Given the description of an element on the screen output the (x, y) to click on. 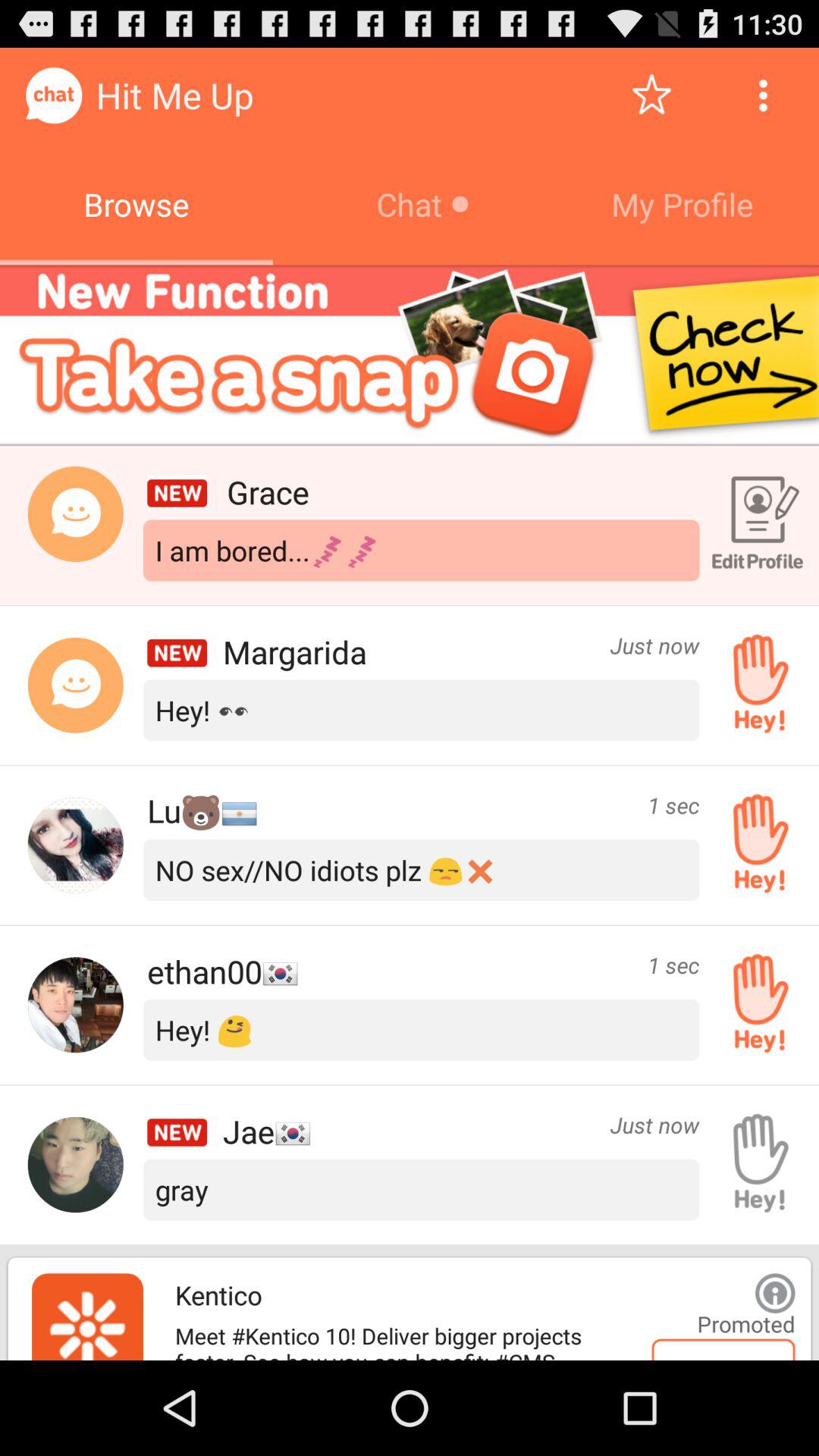
promoted app logo (87, 1316)
